Given the description of an element on the screen output the (x, y) to click on. 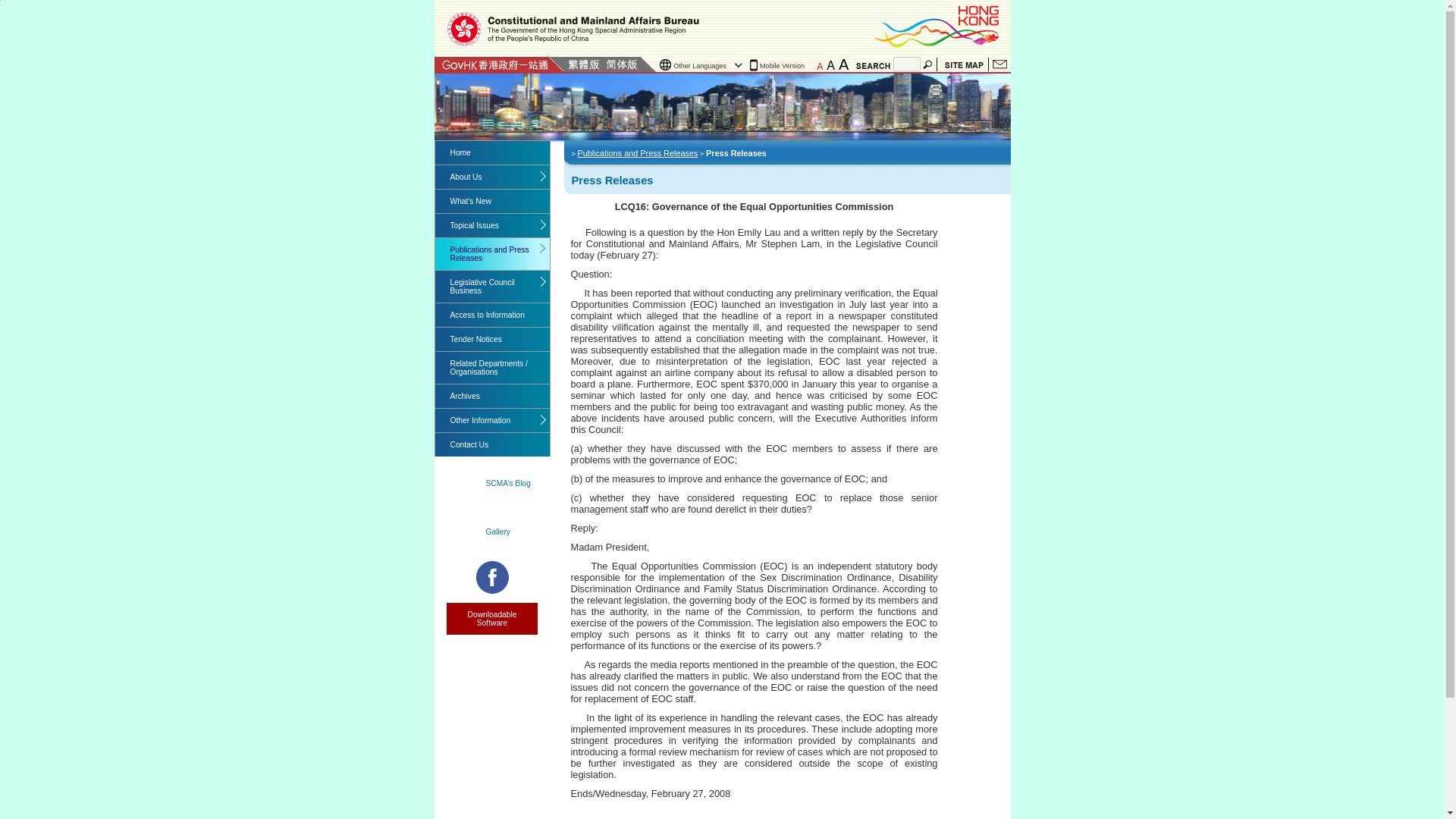
Other Languages (702, 65)
Contact Us (999, 64)
Traditional Chinese (583, 64)
Topical Issues (492, 225)
What's New (492, 200)
Simplified Chinese (621, 64)
Search (928, 64)
About Us (492, 177)
Site Map (963, 64)
Home (492, 152)
Brand Hong Kong - Asia's world city (938, 26)
Mobile Version (779, 65)
